Given the description of an element on the screen output the (x, y) to click on. 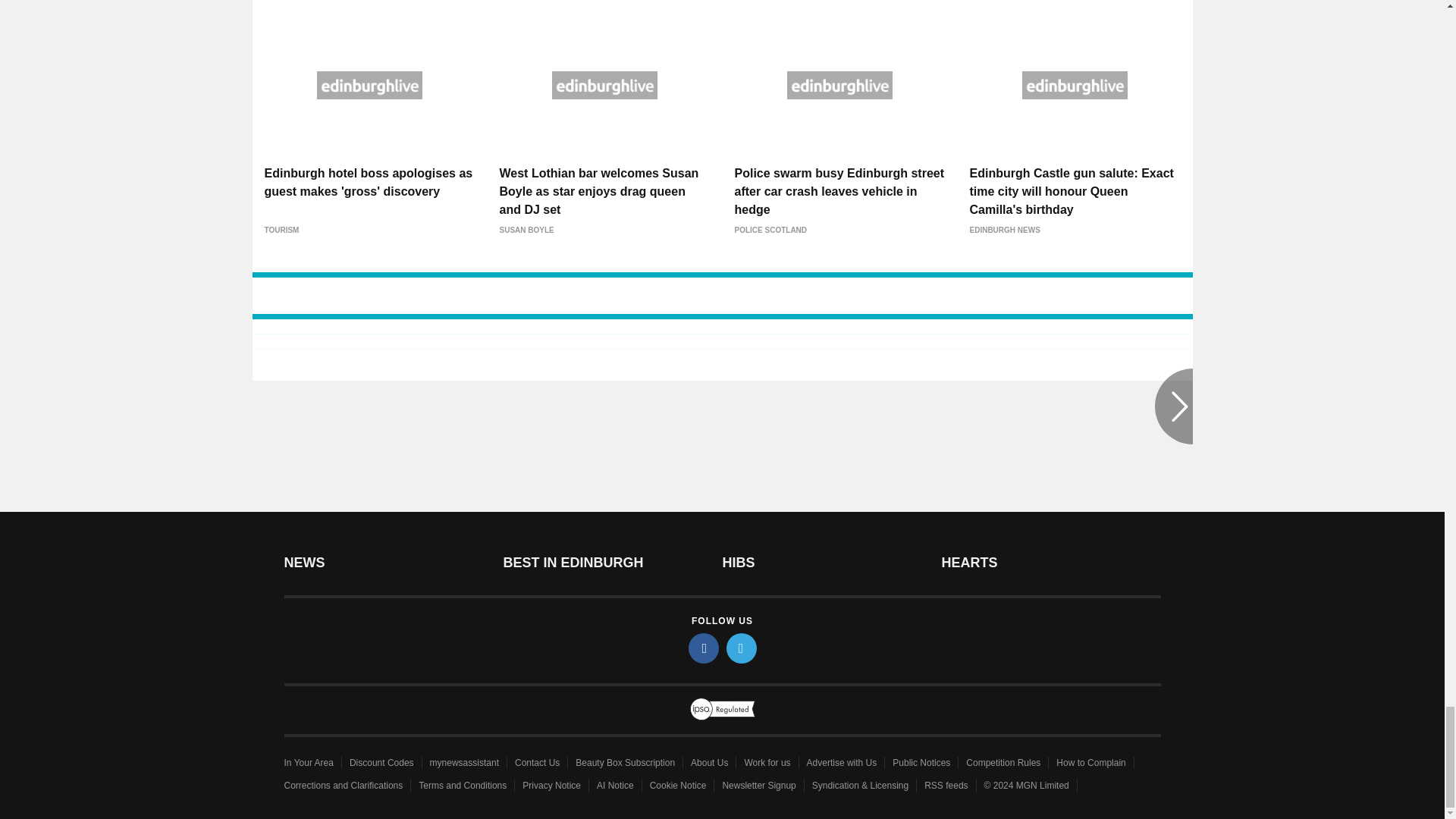
twitter (741, 648)
facebook (703, 648)
